Given the description of an element on the screen output the (x, y) to click on. 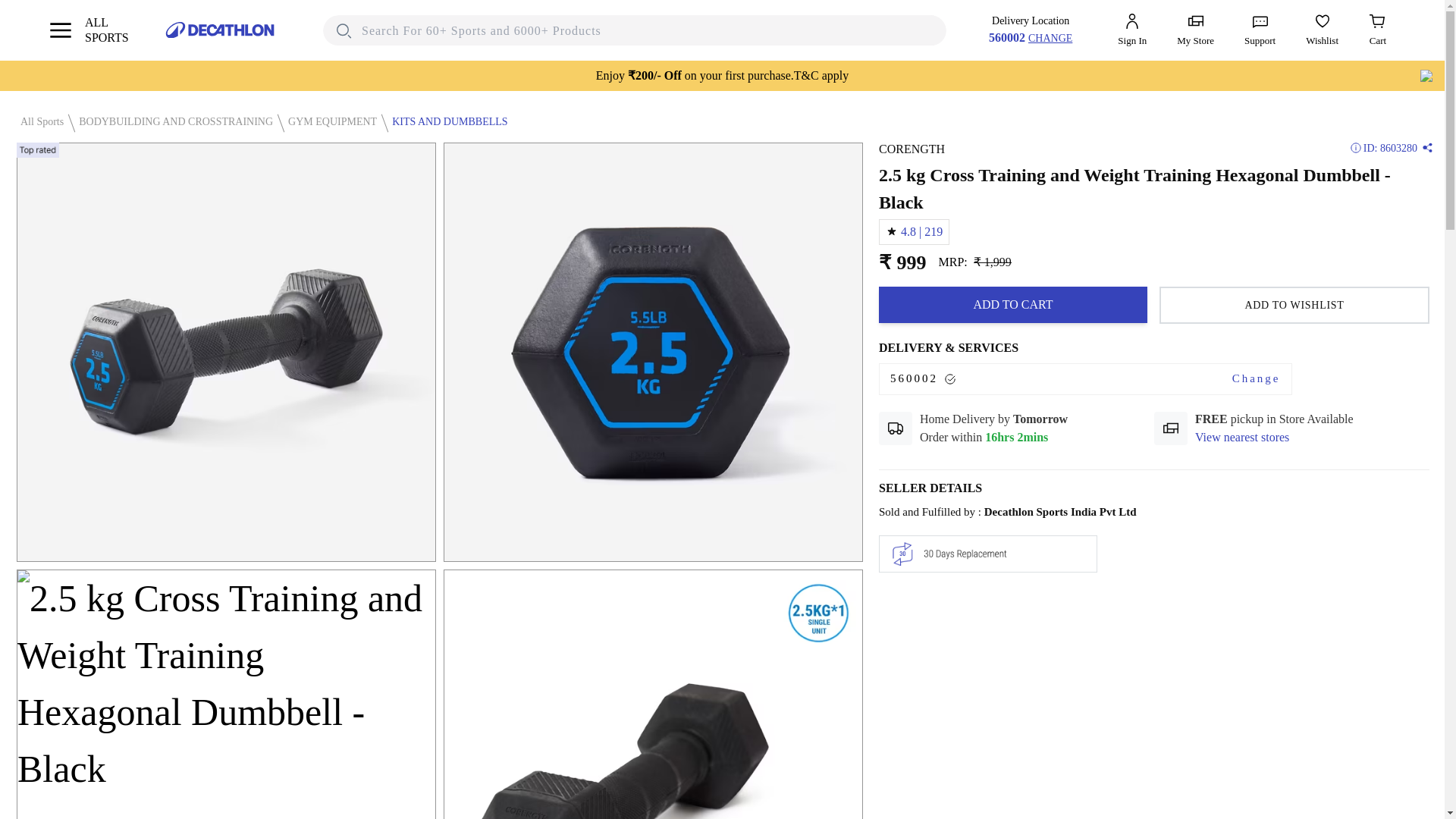
My Store (1195, 30)
Wishlist (1322, 30)
ADD TO WISHLIST (1293, 304)
ADD TO CART (88, 30)
View nearest stores (1013, 304)
BODYBUILDING AND CROSSTRAINING (1241, 436)
CHANGE (172, 120)
Change (1049, 37)
GYM EQUIPMENT (1256, 378)
All Sports (329, 120)
KITS AND DUMBBELLS (38, 120)
